Given the description of an element on the screen output the (x, y) to click on. 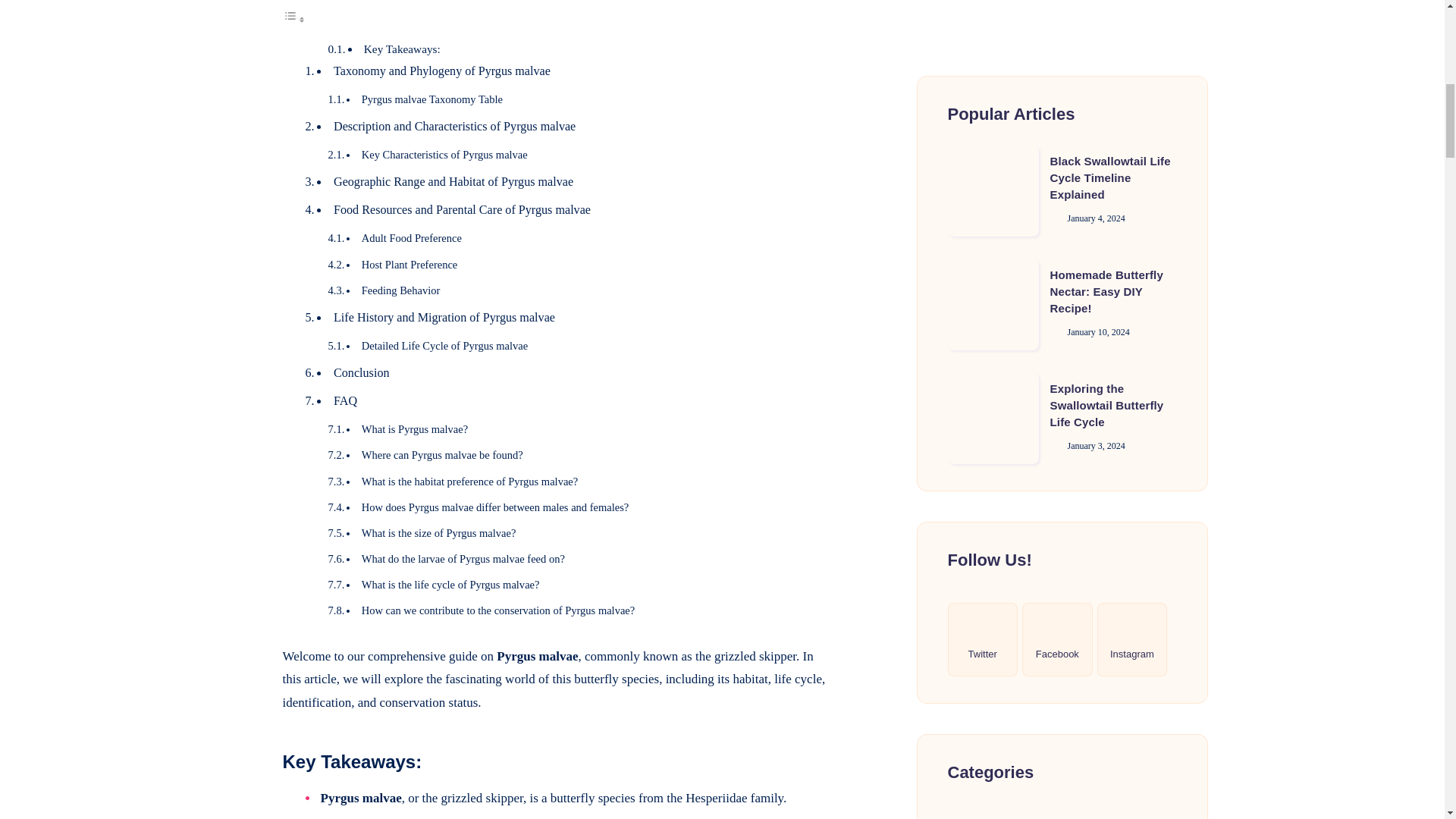
Key Takeaways: (402, 48)
Share on Whatsapp (244, 110)
Food Resources and Parental Care of Pyrgus malvae (462, 209)
Geographic Range and Habitat of Pyrgus malvae (453, 181)
Key Takeaways: (402, 48)
Description and Characteristics of Pyrgus malvae (454, 125)
Detailed Life Cycle of Pyrgus malvae (444, 345)
Key Characteristics of Pyrgus malvae (444, 154)
Key Characteristics of Pyrgus malvae (444, 154)
Life History and Migration of Pyrgus malvae (443, 317)
